Given the description of an element on the screen output the (x, y) to click on. 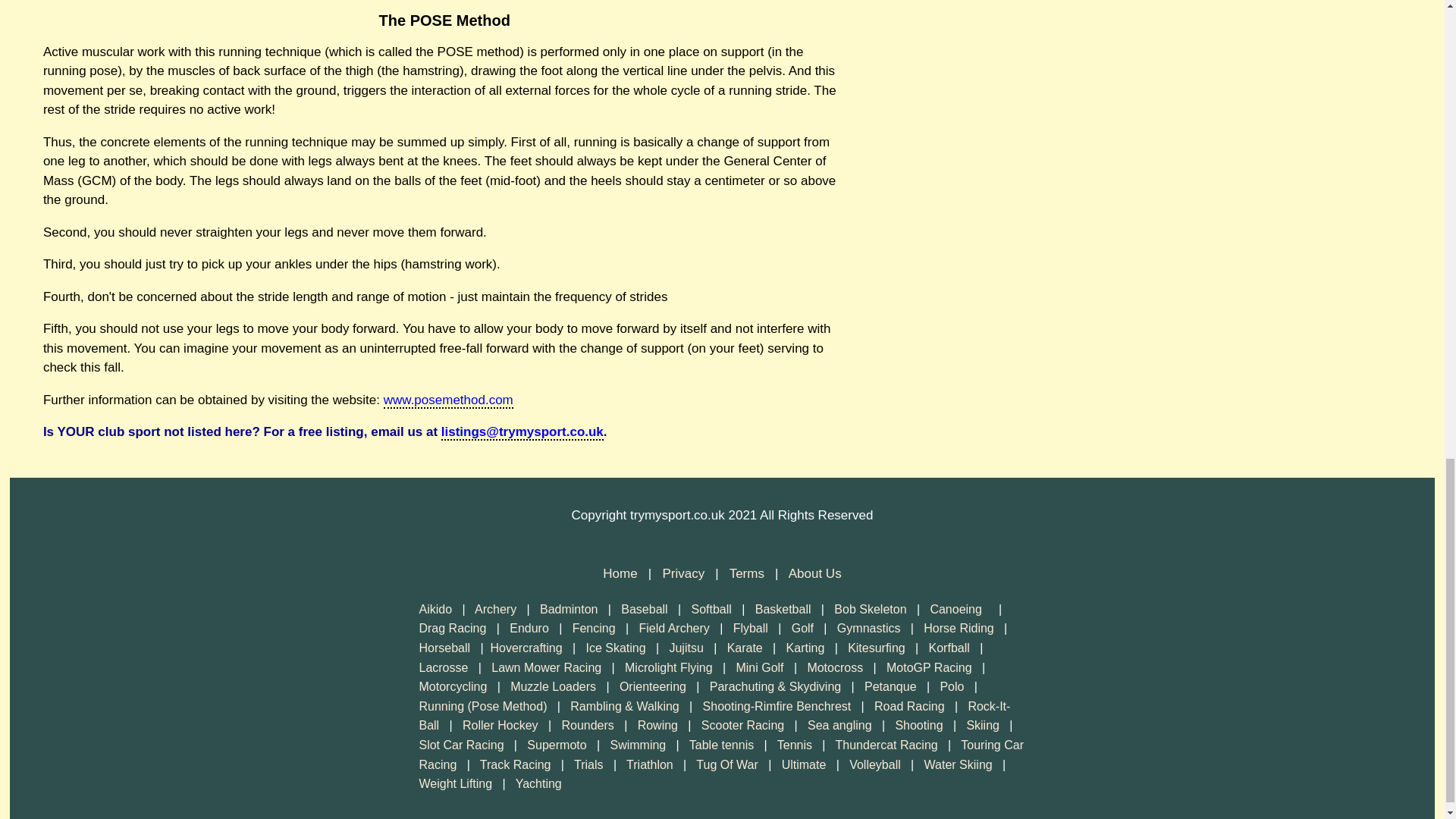
Enduro (528, 627)
Golf (802, 627)
Motocross (834, 667)
Orienteering (652, 686)
Motorcycling (452, 686)
Flyball (750, 627)
Home (621, 573)
www.posemethod.com (448, 400)
Hovercrafting (525, 647)
Aikido (435, 608)
